Given the description of an element on the screen output the (x, y) to click on. 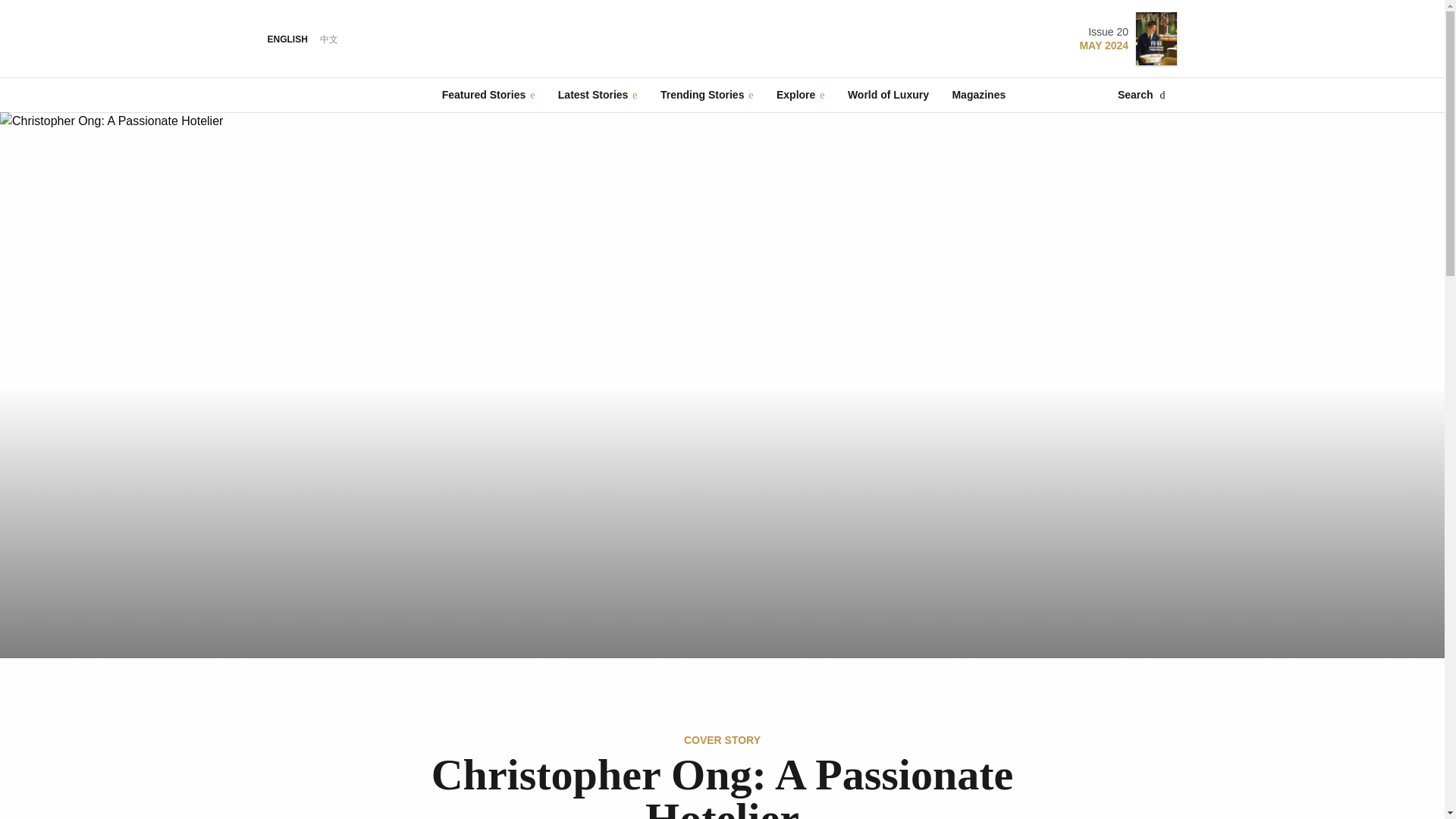
ENGLISH (286, 39)
IM First Class (721, 38)
Featured Stories (488, 94)
